Given the description of an element on the screen output the (x, y) to click on. 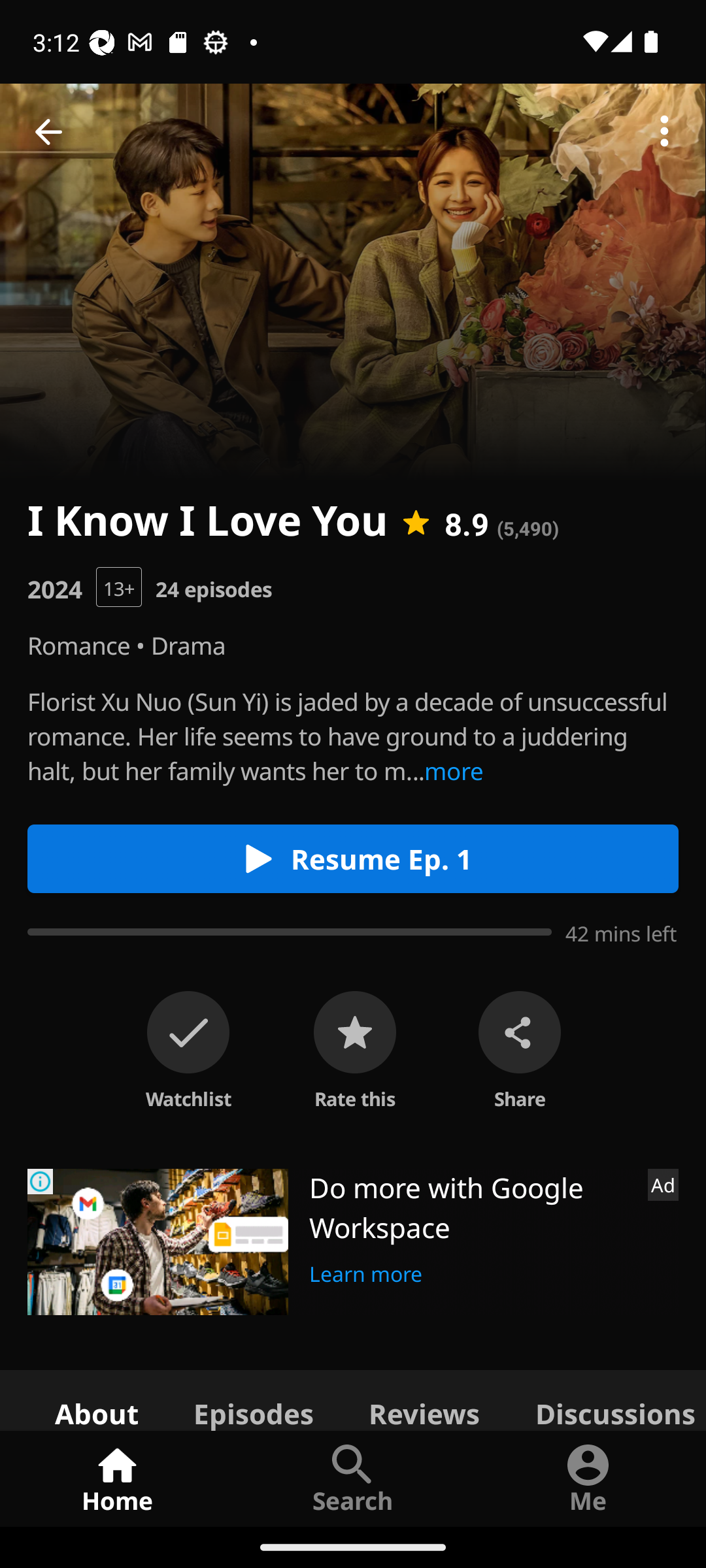
More (664, 131)
on (187, 1032)
Ad Choices Icon (39, 1181)
Do more with Google Workspace (471, 1207)
Learn more (365, 1271)
Episodes (252, 1400)
Reviews (423, 1400)
Discussions (606, 1400)
Search (352, 1478)
Me (588, 1478)
